Given the description of an element on the screen output the (x, y) to click on. 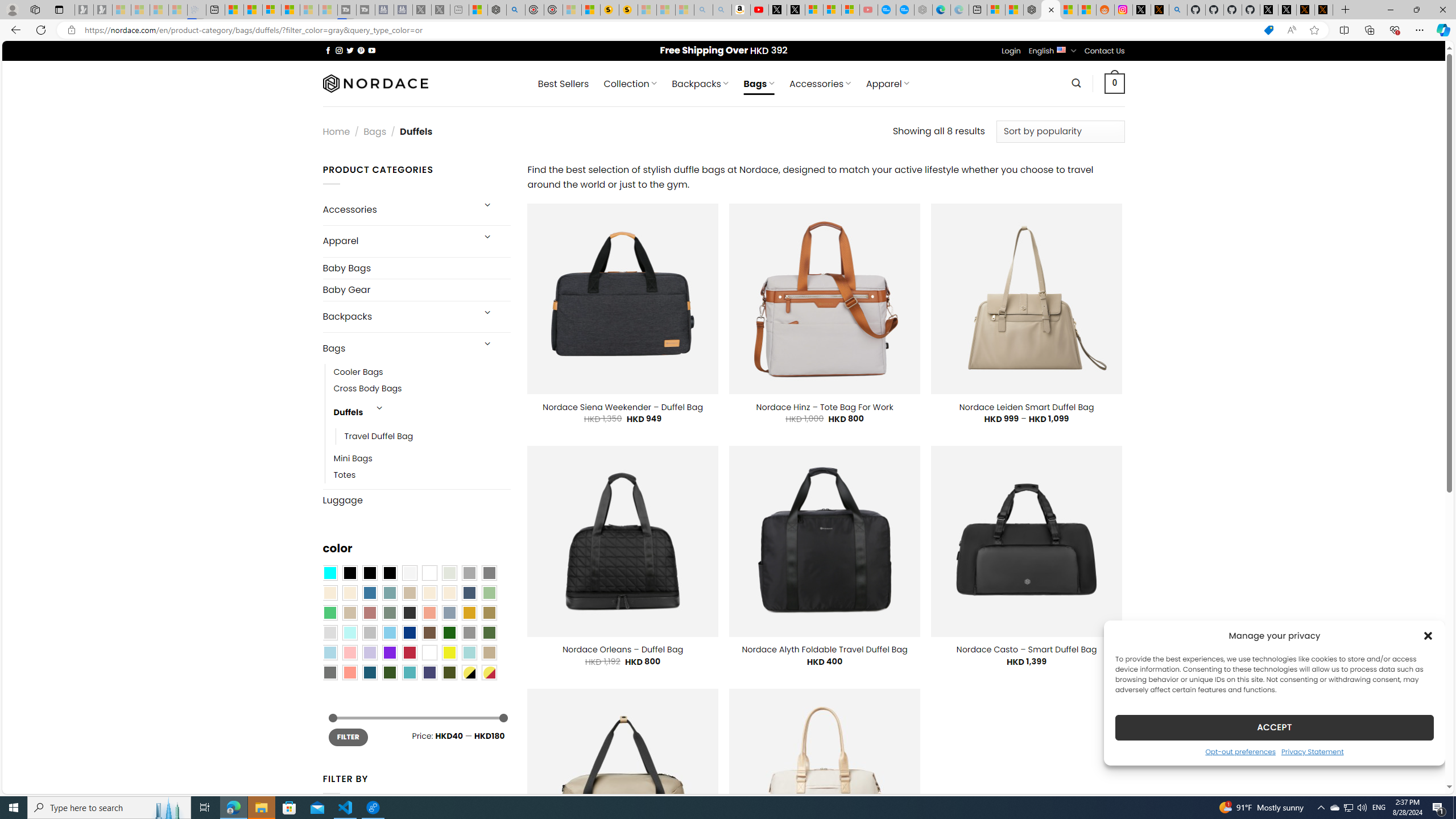
Totes (344, 475)
Opinion: Op-Ed and Commentary - USA TODAY (887, 9)
Sky Blue (389, 632)
Black (369, 572)
Travel Duffel Bag (378, 436)
Coral (429, 613)
Luggage (416, 499)
Army Green (449, 672)
